Given the description of an element on the screen output the (x, y) to click on. 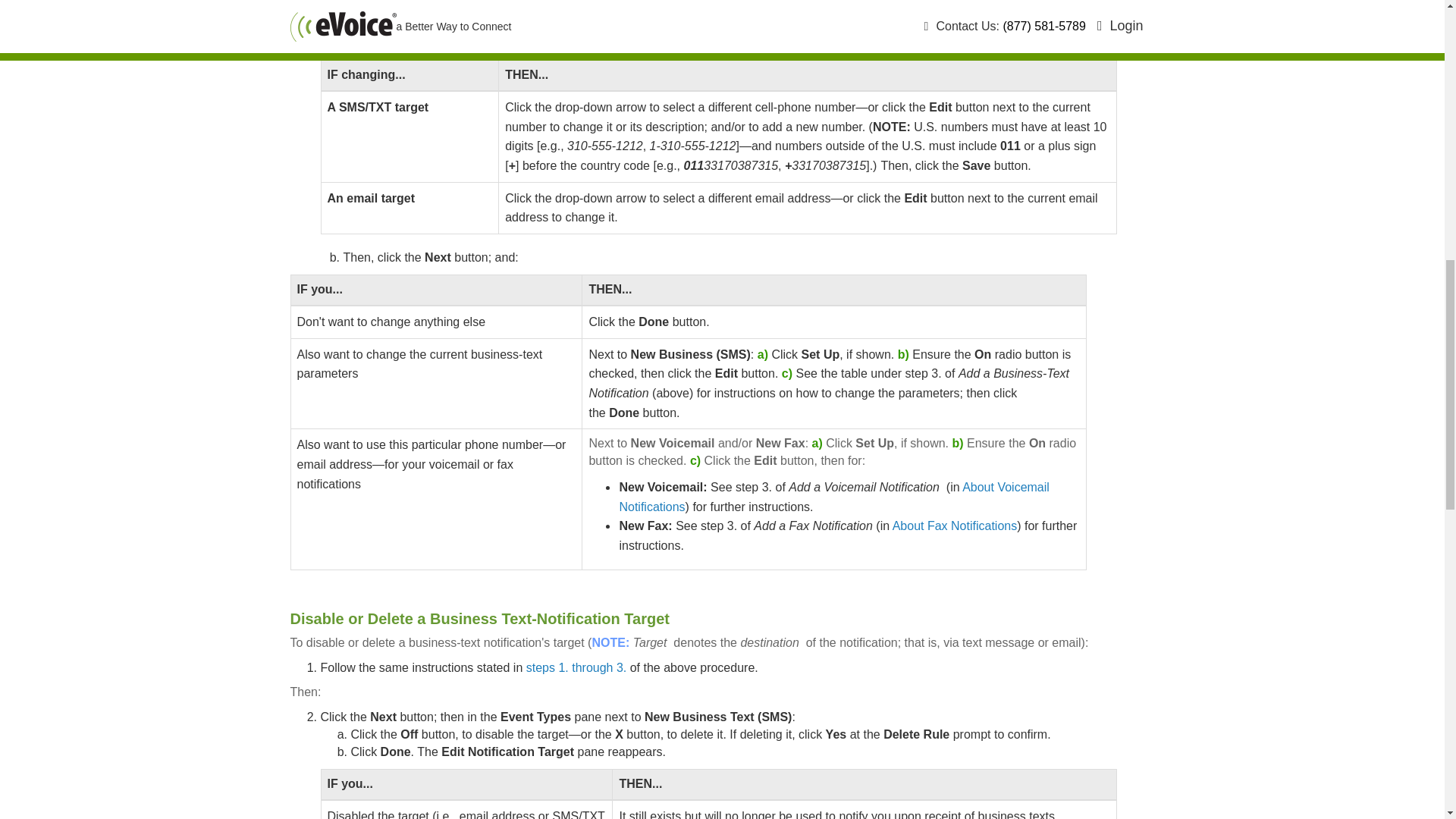
About Voicemail Notifications (833, 496)
About Fax Notifications (954, 525)
steps 1. through 3. (576, 667)
